Given the description of an element on the screen output the (x, y) to click on. 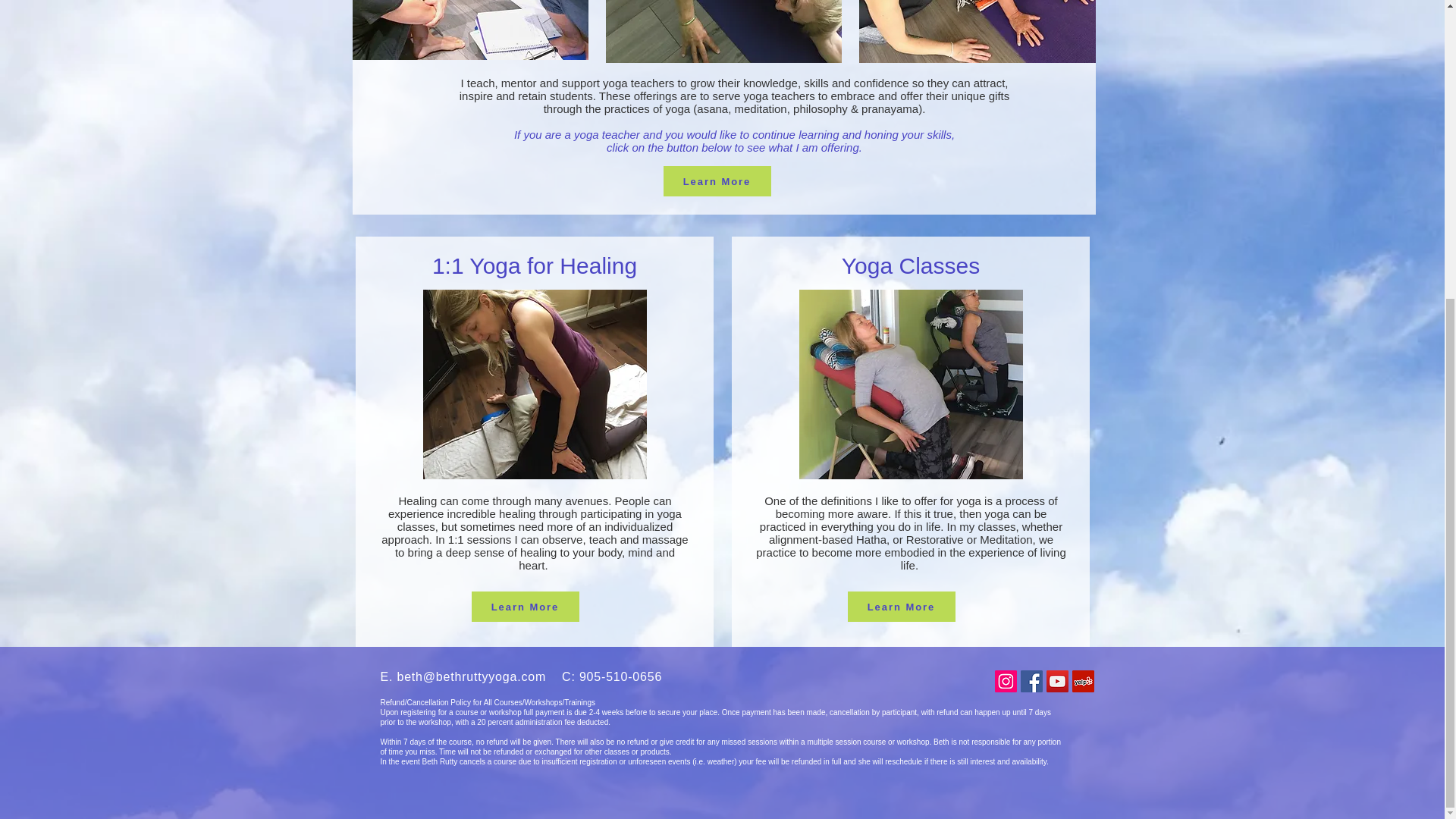
C: 905-510-0656 (612, 676)
Learn More (901, 606)
Learn More (525, 606)
Learn More (716, 181)
